Given the description of an element on the screen output the (x, y) to click on. 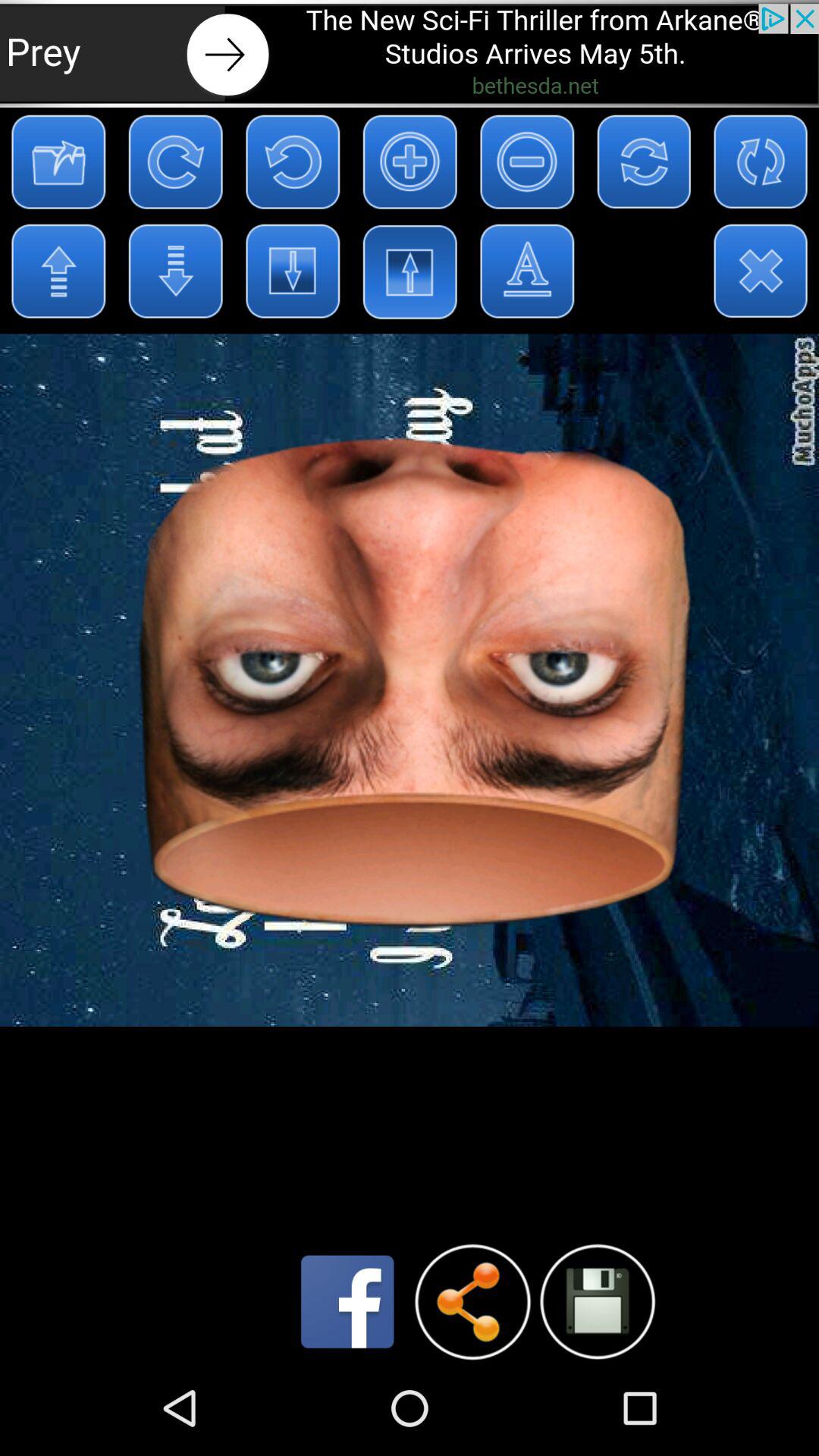
share the image (472, 1301)
